Given the description of an element on the screen output the (x, y) to click on. 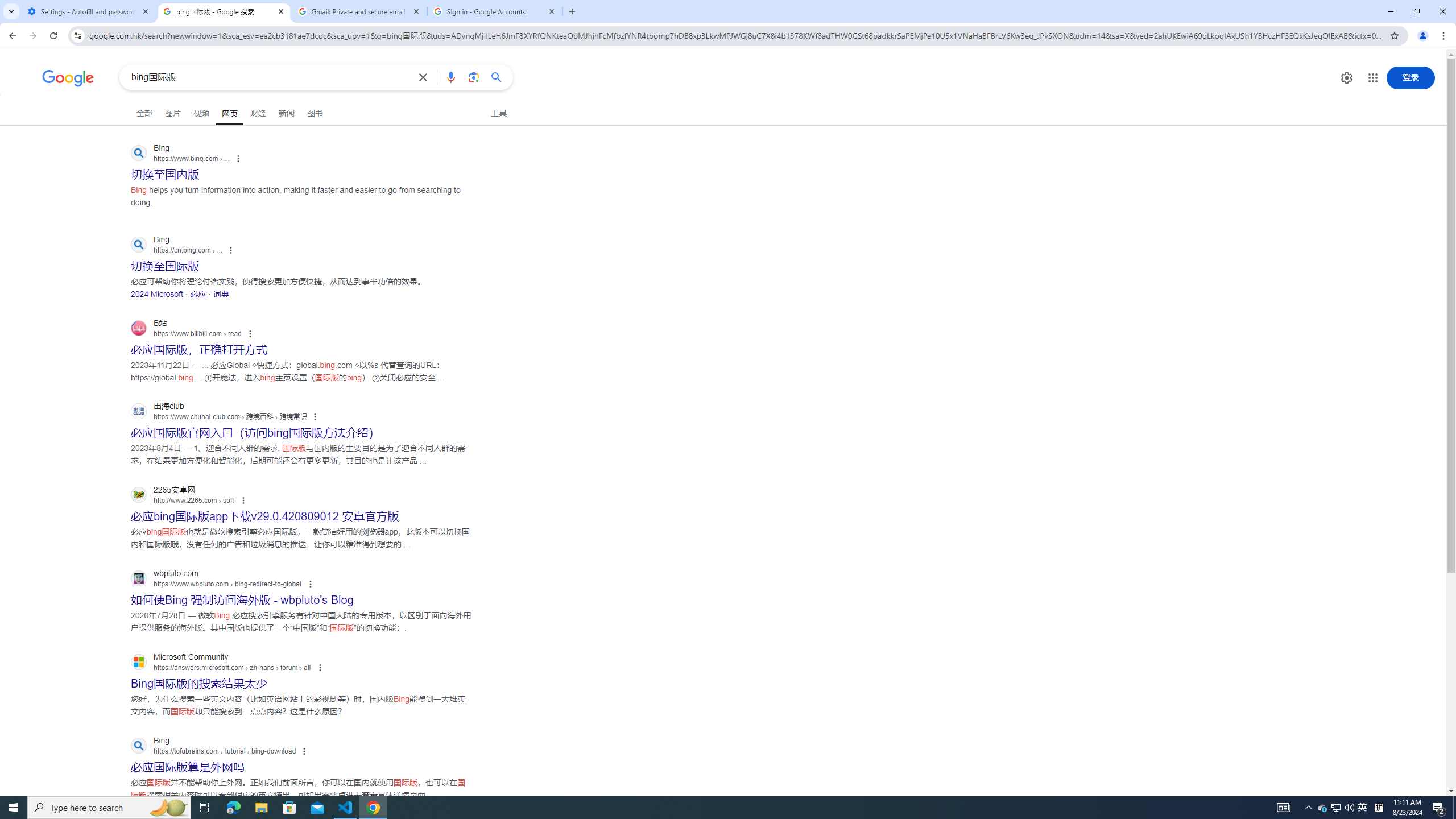
You (1422, 35)
Address and search bar (735, 35)
System (6, 6)
Settings - Autofill and passwords (88, 11)
